Given the description of an element on the screen output the (x, y) to click on. 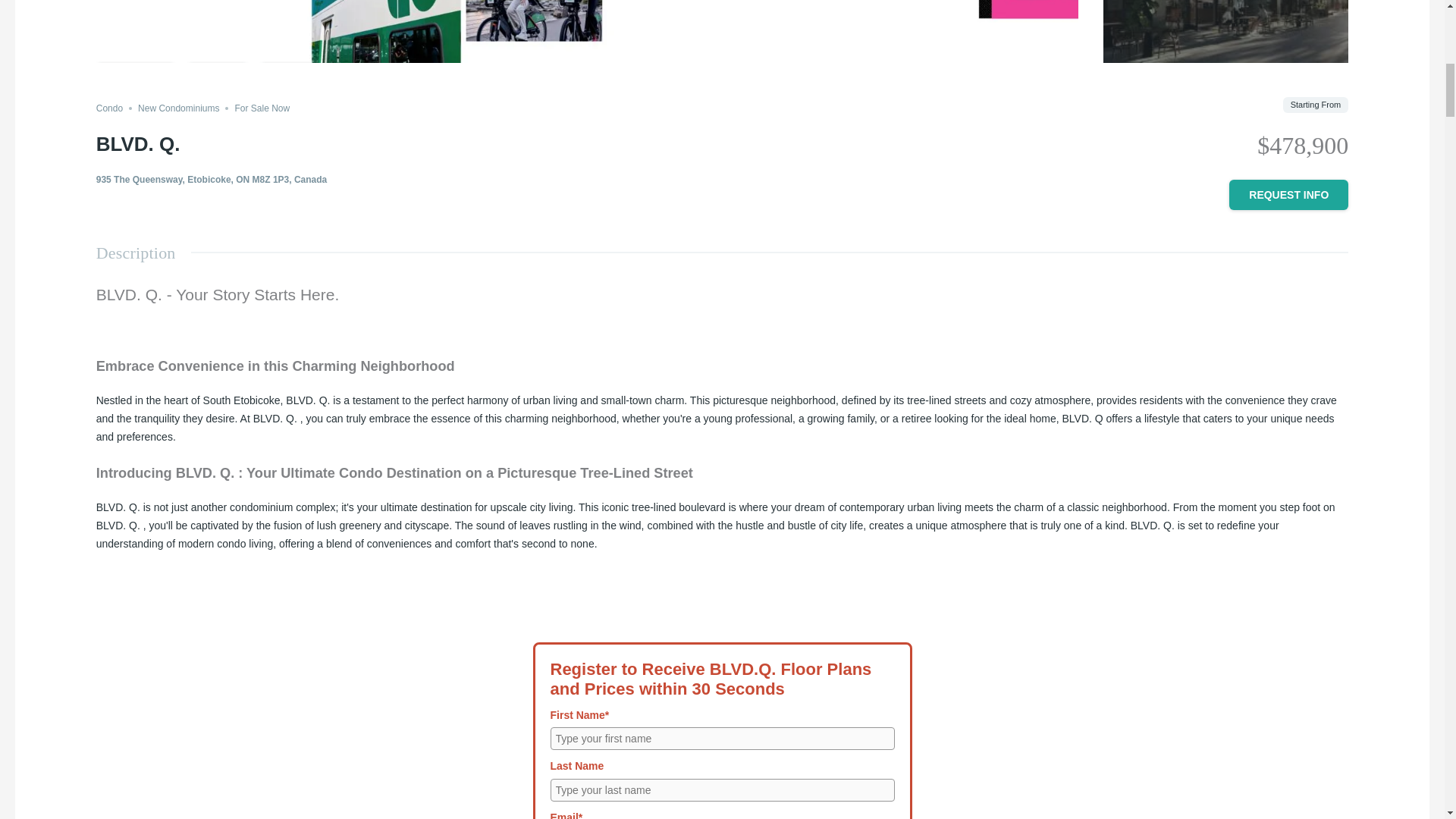
REQUEST INFO (1288, 194)
